Given the description of an element on the screen output the (x, y) to click on. 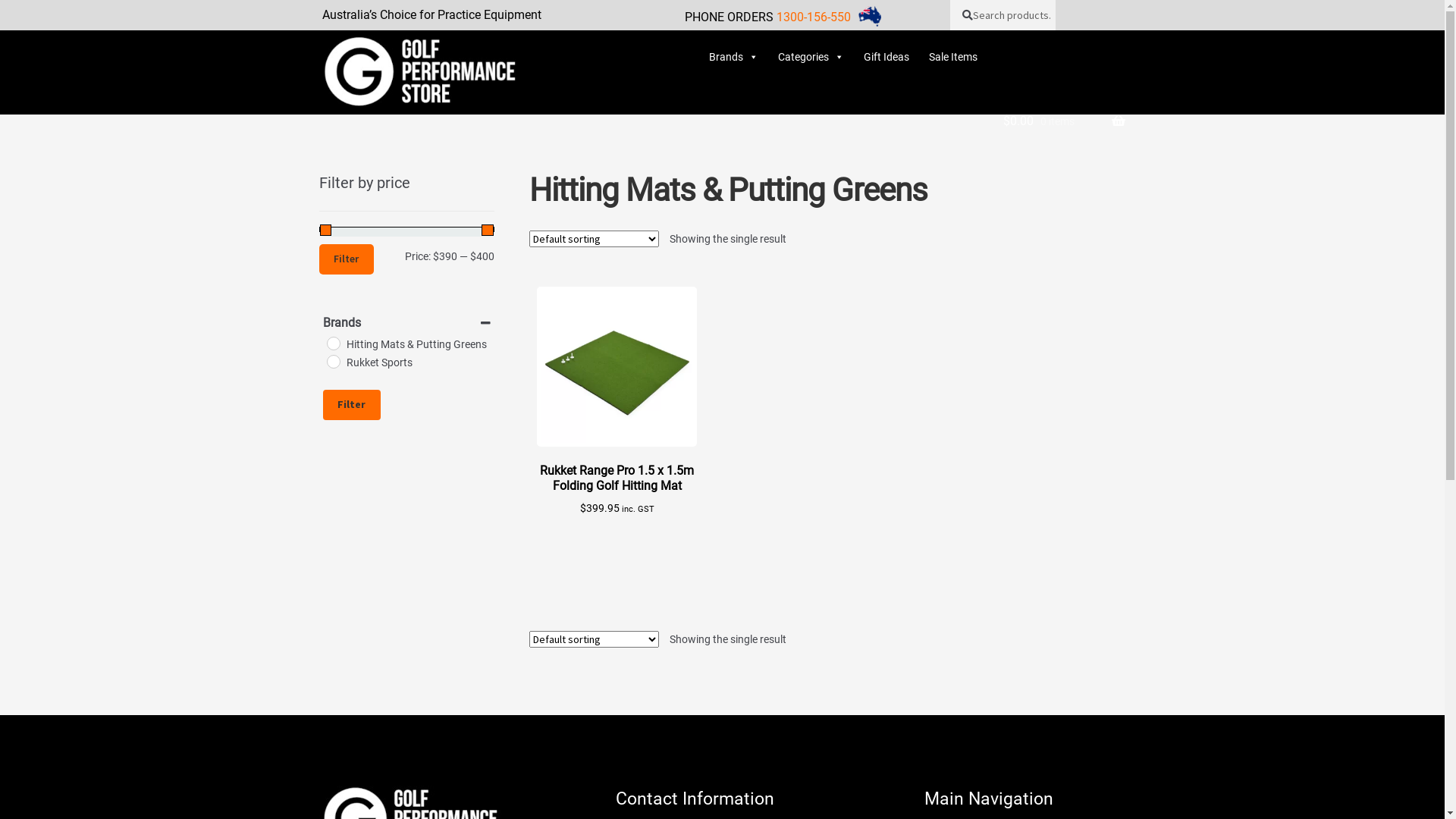
Add to cart Element type: text (660, 369)
Brands Element type: text (435, 52)
Filter Element type: text (346, 259)
1300-156-550 Element type: text (813, 16)
Sale Items Element type: text (953, 46)
Gift Ideas Element type: text (886, 46)
Home Element type: text (355, 52)
Brands Element type: text (733, 46)
Categories Element type: text (810, 46)
Filter Element type: text (352, 404)
